Given the description of an element on the screen output the (x, y) to click on. 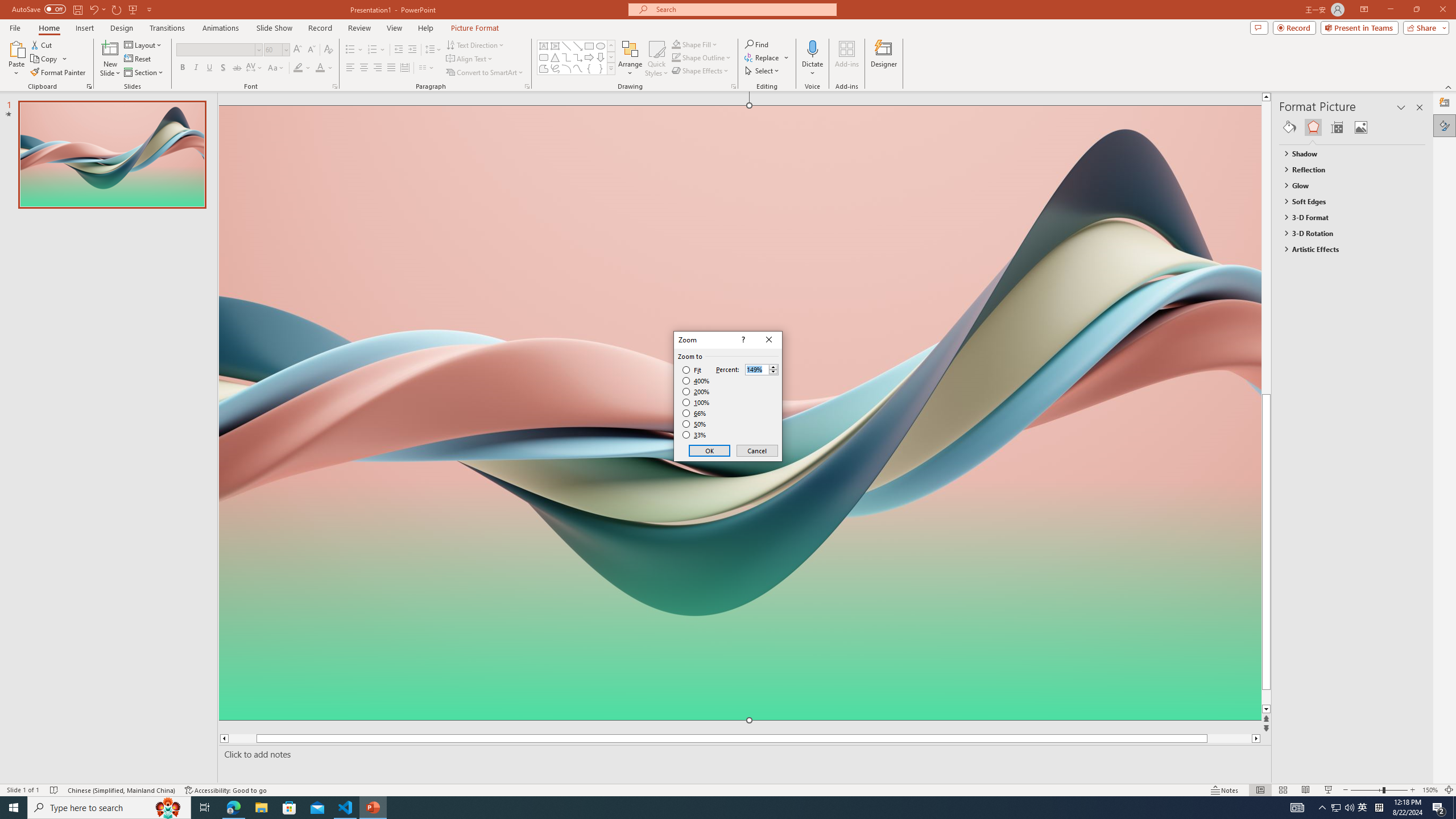
Zoom 150% (1430, 790)
Text Direction (476, 44)
Action Center, 2 new notifications (1439, 807)
Accessibility Checker Accessibility: Good to go (226, 790)
Less (772, 372)
AutomationID: ShapesInsertGallery (576, 57)
User Promoted Notification Area (1342, 807)
Glow (1347, 185)
Arrow: Right (589, 57)
Fill & Line (1288, 126)
Select (762, 69)
